Given the description of an element on the screen output the (x, y) to click on. 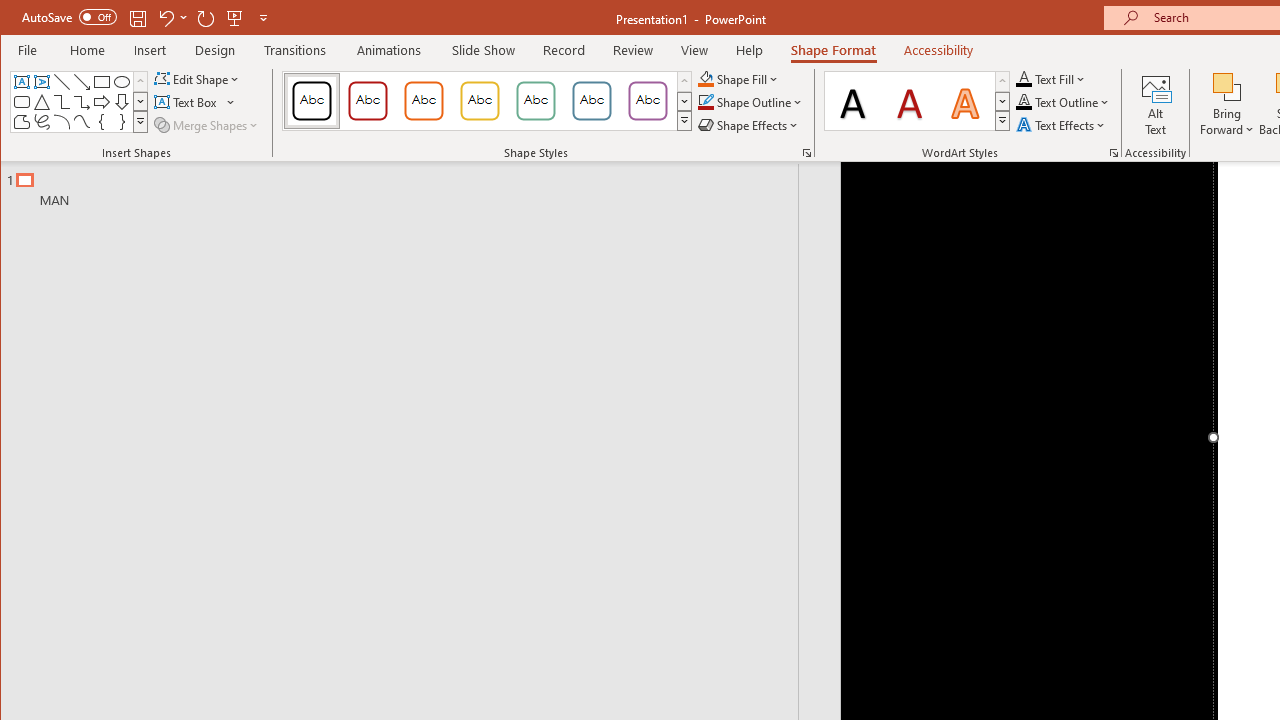
Colored Outline - Orange, Accent 2 (423, 100)
Format Text Effects... (1113, 152)
Shape Outline (750, 101)
Colored Outline - Dark Red, Accent 1 (367, 100)
Text Outline RGB(0, 0, 0) (1023, 101)
Outline (408, 185)
Text Fill RGB(0, 0, 0) (1023, 78)
